Given the description of an element on the screen output the (x, y) to click on. 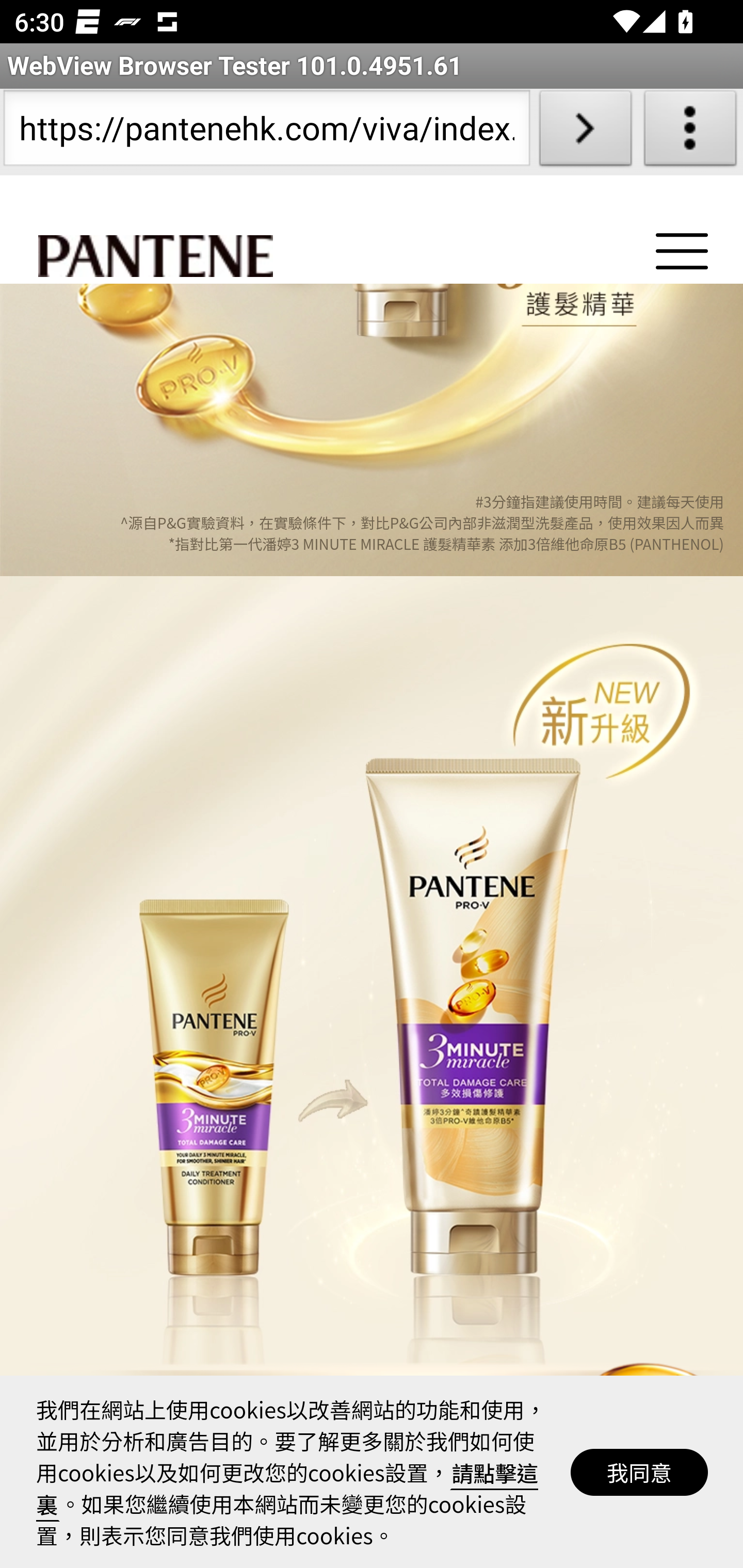
Load URL (585, 132)
About WebView (690, 132)
pantene 潘婷 PANTENE logo pantene 潘婷 PANTENE logo (155, 259)
我同意 (639, 1474)
請點擊這裏 (287, 1489)
